Given the description of an element on the screen output the (x, y) to click on. 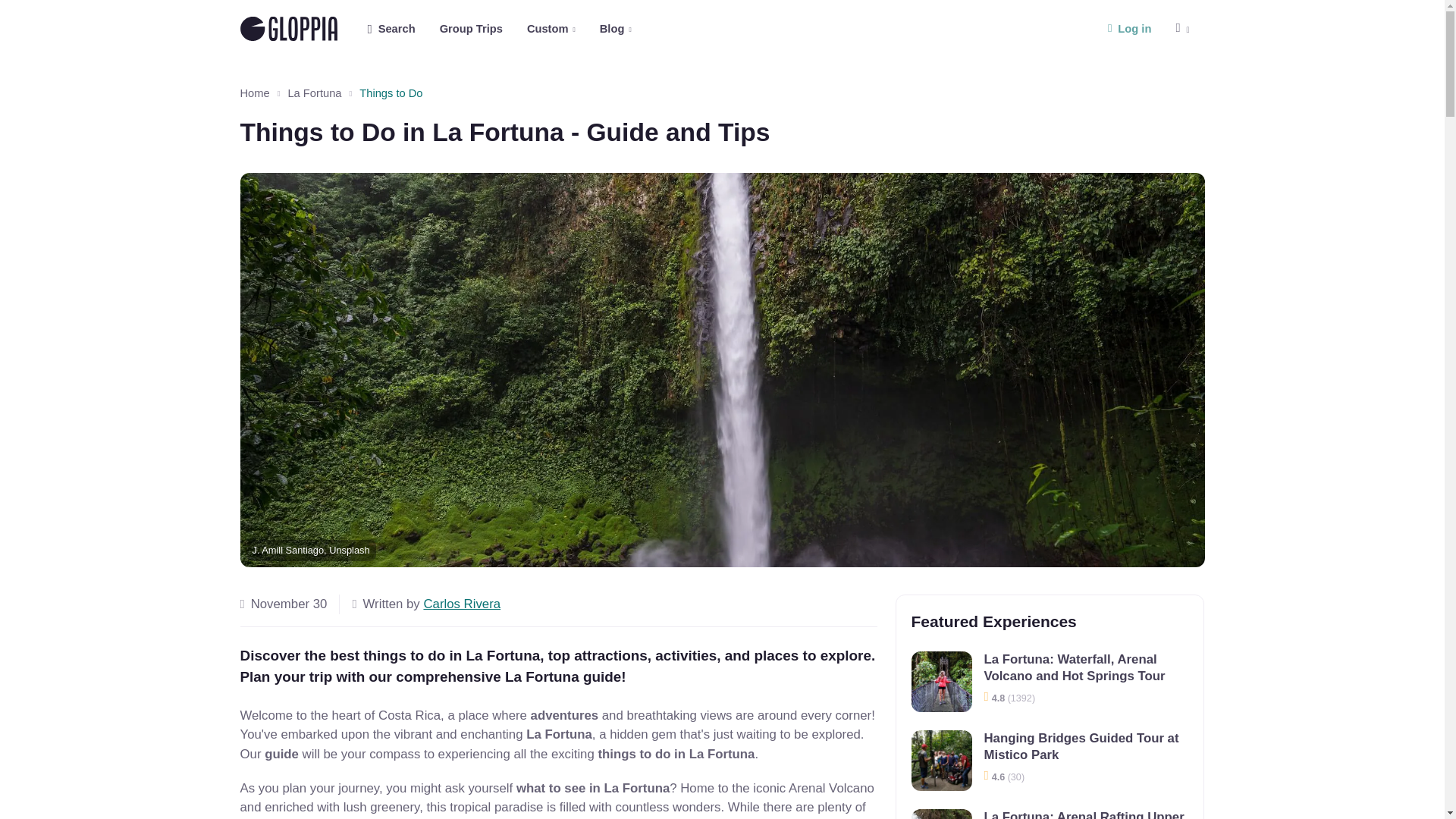
Custom (551, 28)
GLOPPIA (288, 28)
La Fortuna: Arenal Rafting Upper Balsa Class 3 and 4 Rapids (499, 28)
Group Trips (941, 814)
Search (471, 28)
Log in (390, 28)
Blog (1129, 28)
La Fortuna: Waterfall, Arenal Volcano and Hot Springs Tour (615, 28)
Hanging Bridges Guided Tour at Mistico Park (941, 681)
La Fortuna (941, 760)
